Given the description of an element on the screen output the (x, y) to click on. 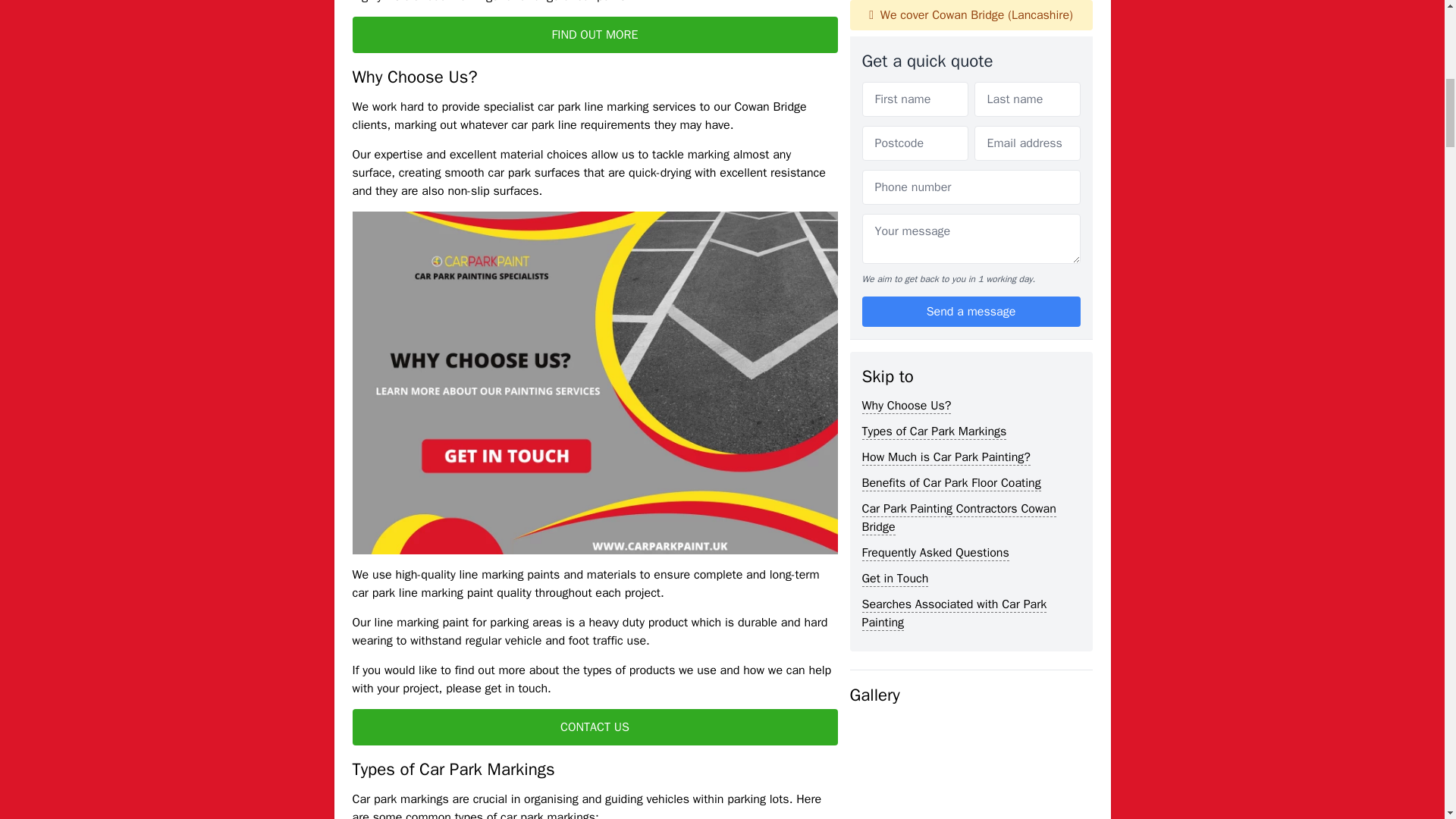
Why Choose Us? (905, 4)
Why Choose Us? (905, 4)
Searches Associated with Car Park Painting (953, 209)
How Much is Car Park Painting? (945, 53)
Frequently Asked Questions (935, 148)
CONTACT US (594, 727)
Types of Car Park Markings (933, 27)
Benefits of Car Park Floor Coating (951, 78)
Get in Touch (894, 174)
Car Park Painting Contractors Cowan Bridge (958, 114)
FIND OUT MORE (594, 34)
